Given the description of an element on the screen output the (x, y) to click on. 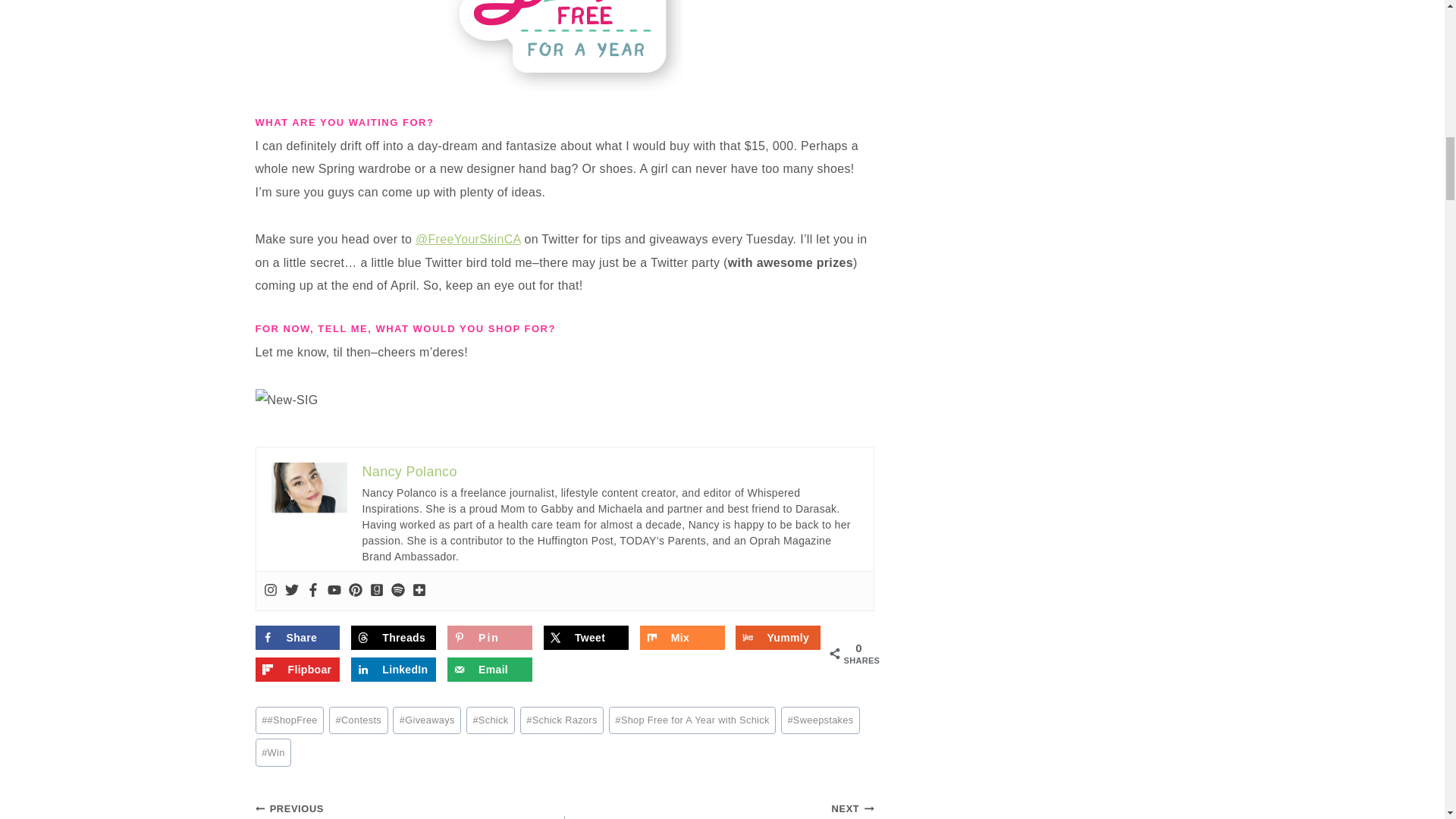
Share on Threads (392, 637)
Share on Facebook (296, 637)
Share on Flipboard (296, 669)
Share on Yummly (778, 637)
Share on Mix (682, 637)
Share on X (585, 637)
Save to Pinterest (489, 637)
